Given the description of an element on the screen output the (x, y) to click on. 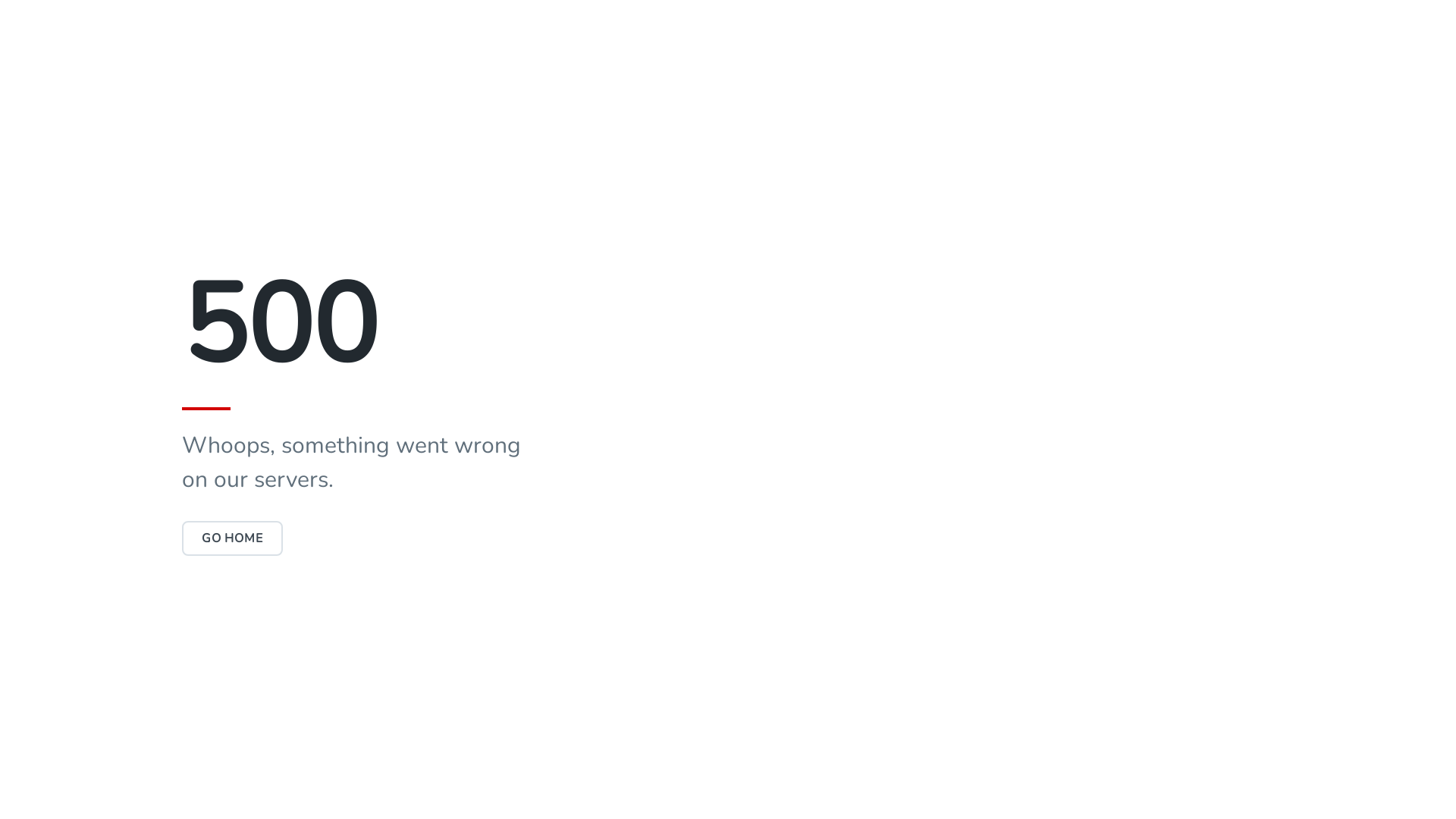
GO HOME Element type: text (232, 538)
GO HOME Element type: text (232, 537)
